Given the description of an element on the screen output the (x, y) to click on. 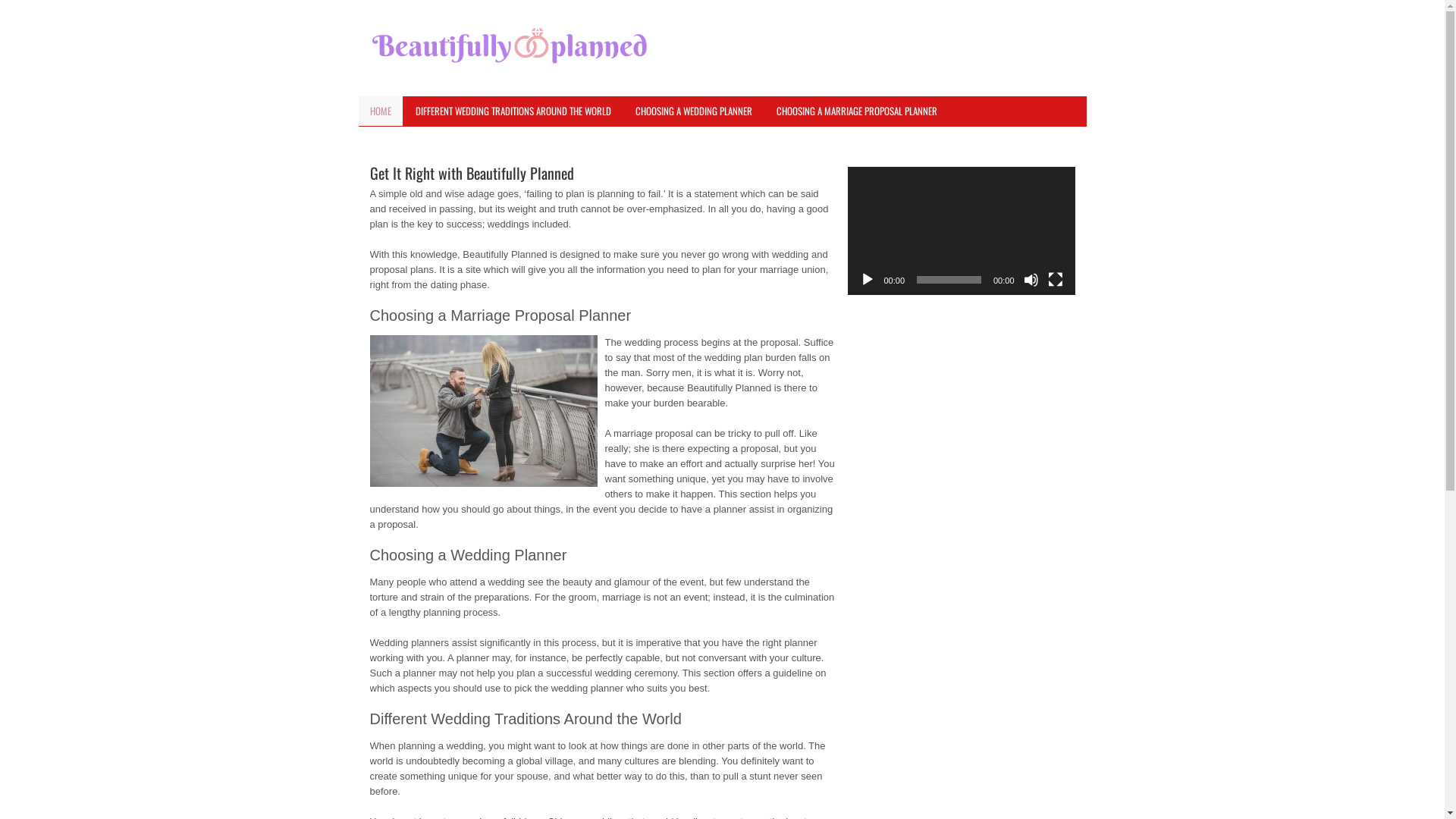
DIFFERENT WEDDING TRADITIONS AROUND THE WORLD Element type: text (512, 110)
GETTING MARRIED IN THE CARIBBEAN Element type: text (435, 140)
Fullscreen Element type: hover (1055, 279)
HOME Element type: text (379, 110)
Play Element type: hover (867, 279)
Beautifullyplanned.ca Element type: hover (509, 46)
CHOOSING A WEDDING PLANNER Element type: text (692, 110)
Mute Element type: hover (1030, 279)
